Given the description of an element on the screen output the (x, y) to click on. 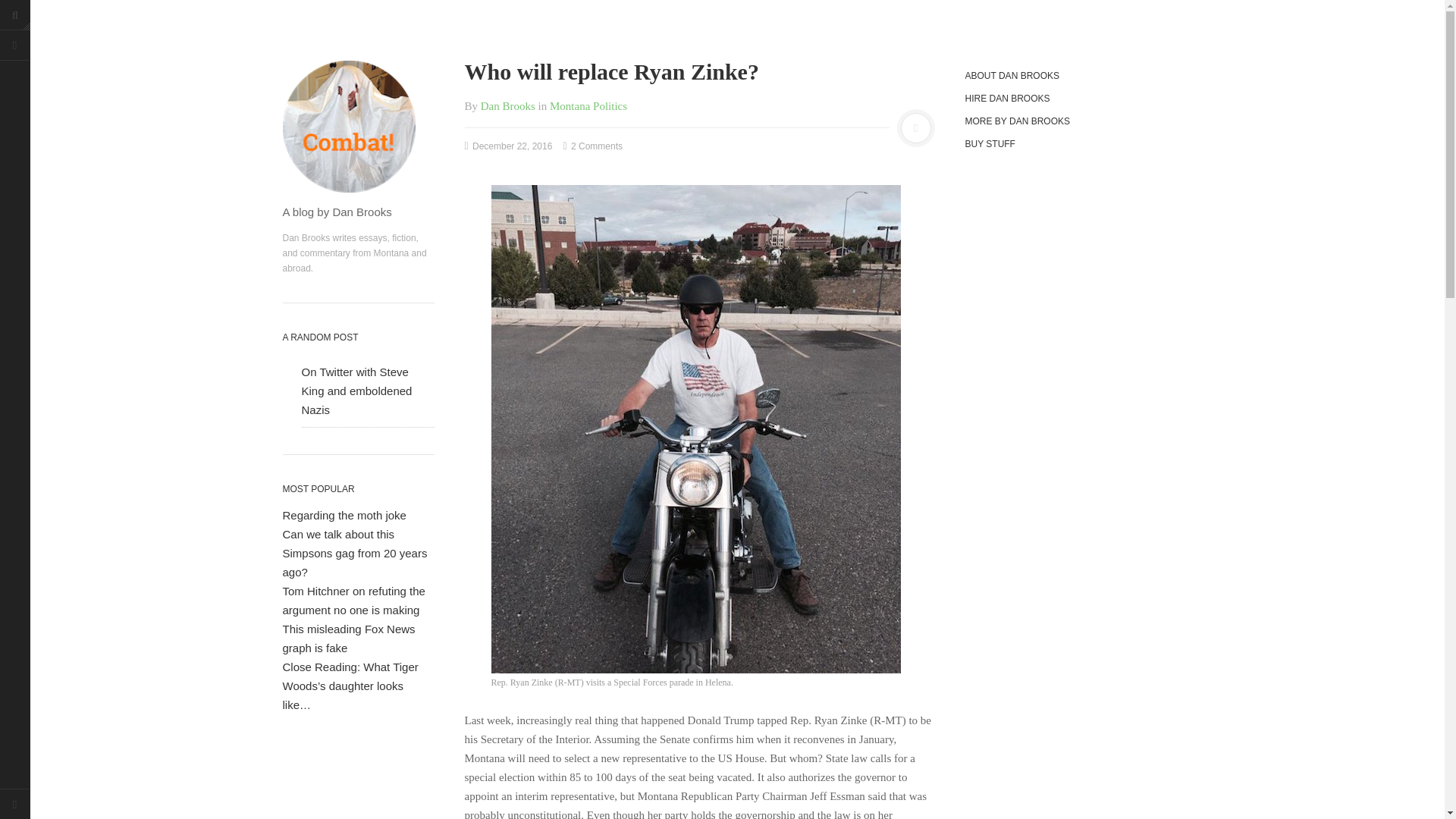
Montana Politics (588, 105)
BUY STUFF (1064, 143)
View all posts by Dan Brooks (507, 105)
ABOUT DAN BROOKS (1064, 75)
HIRE DAN BROOKS (1064, 98)
Permalink to On Twitter with Steve King and emboldened Nazis (356, 390)
2 Comments (593, 145)
December 22, 2016 (507, 145)
MORE BY DAN BROOKS (1064, 120)
Can we talk about this Simpsons gag from 20 years ago? (354, 552)
This misleading Fox News graph is fake (348, 638)
On Twitter with Steve King and emboldened Nazis (356, 390)
Combat! (357, 126)
Regarding the moth joke (344, 514)
Tom Hitchner on refuting the argument no one is making (353, 600)
